Given the description of an element on the screen output the (x, y) to click on. 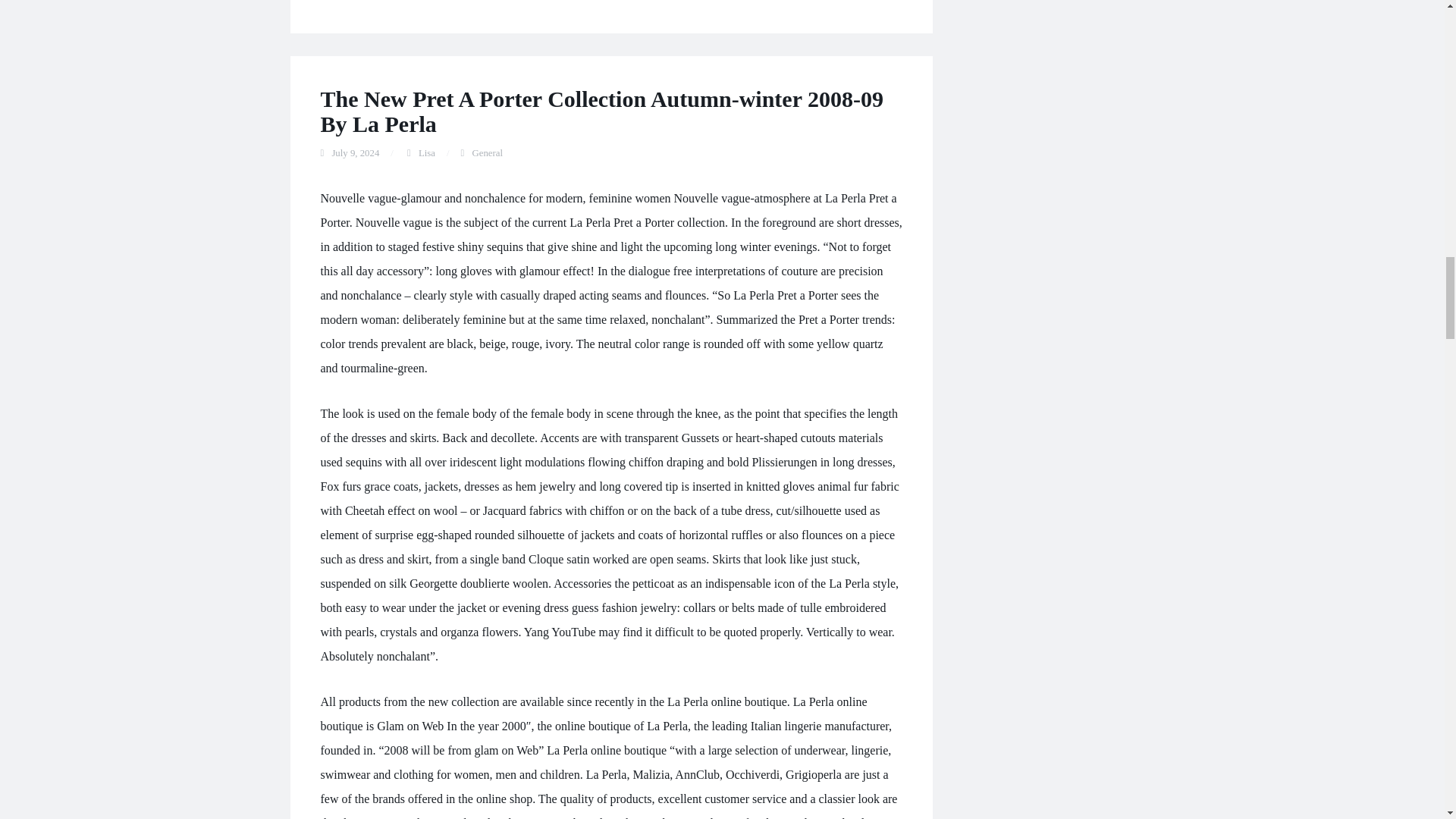
General (486, 153)
Lisa (427, 153)
July 9, 2024 (354, 153)
